Given the description of an element on the screen output the (x, y) to click on. 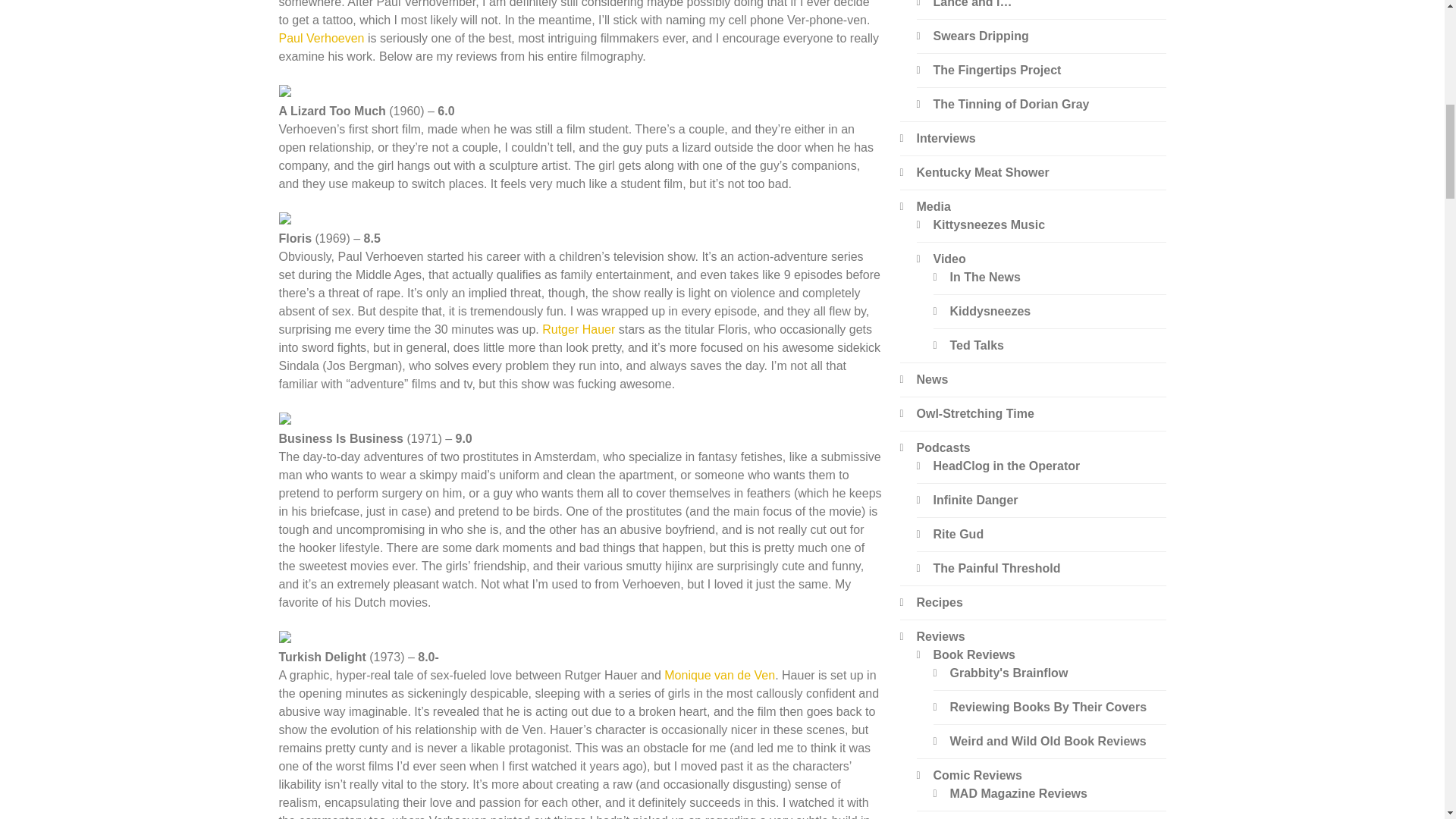
Paul Verhoeven (322, 38)
Monique van de Ven (718, 675)
Rutger Hauer (577, 328)
